Given the description of an element on the screen output the (x, y) to click on. 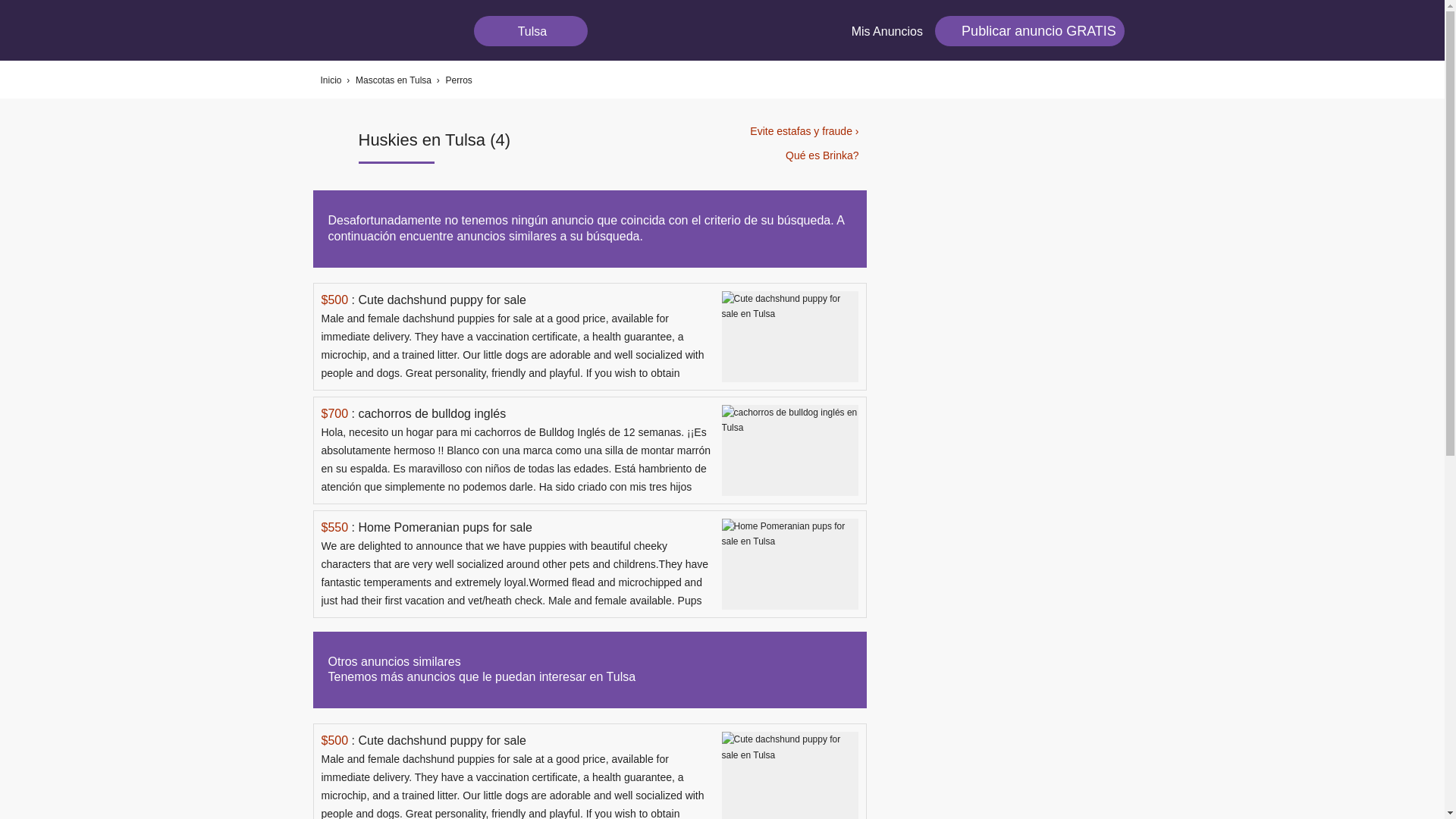
Publicar avisos y vender sus cosas (1029, 30)
